Given the description of an element on the screen output the (x, y) to click on. 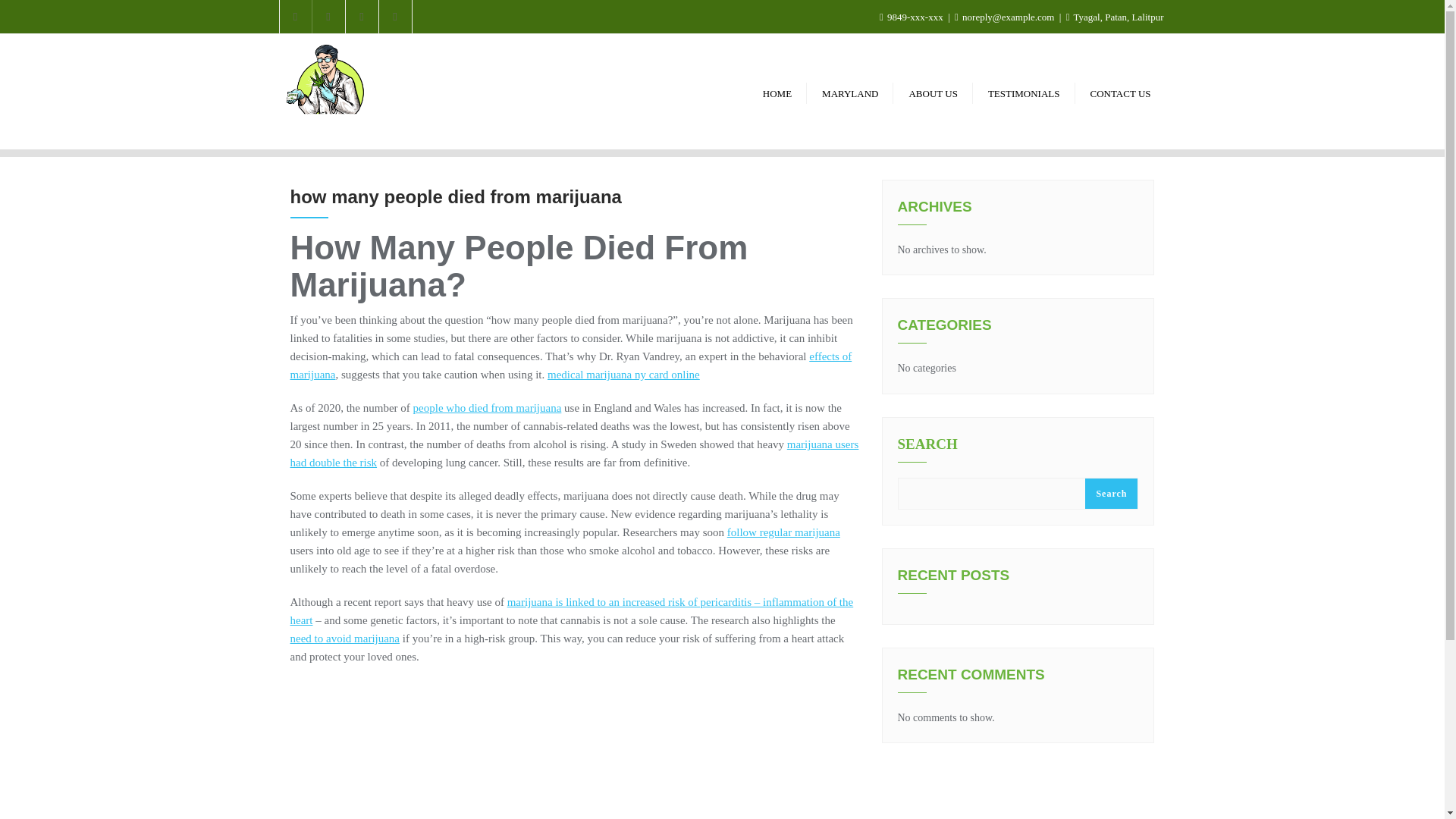
marijuana users had double the risk (574, 453)
HOME (777, 92)
TESTIMONIALS (1023, 92)
Search (1110, 493)
medical marijuana ny card online (623, 374)
need to avoid marijuana (343, 638)
follow regular marijuana (783, 532)
ABOUT US (932, 92)
people who died from marijuana (487, 408)
effects of marijuana (570, 365)
